Given the description of an element on the screen output the (x, y) to click on. 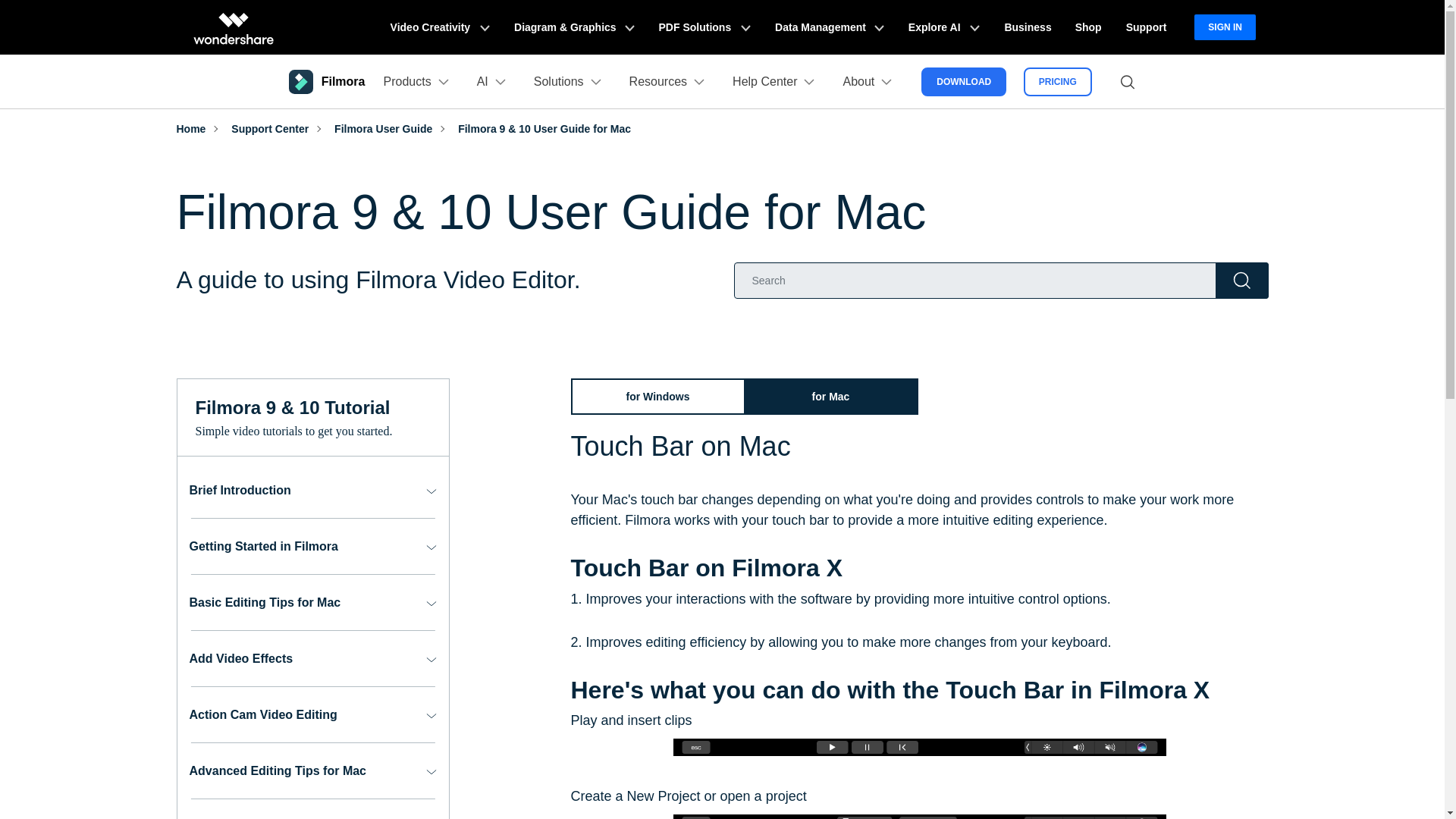
Explore AI (943, 27)
Data Management (829, 27)
Video Creativity (439, 27)
PDF Solutions (704, 27)
